Given the description of an element on the screen output the (x, y) to click on. 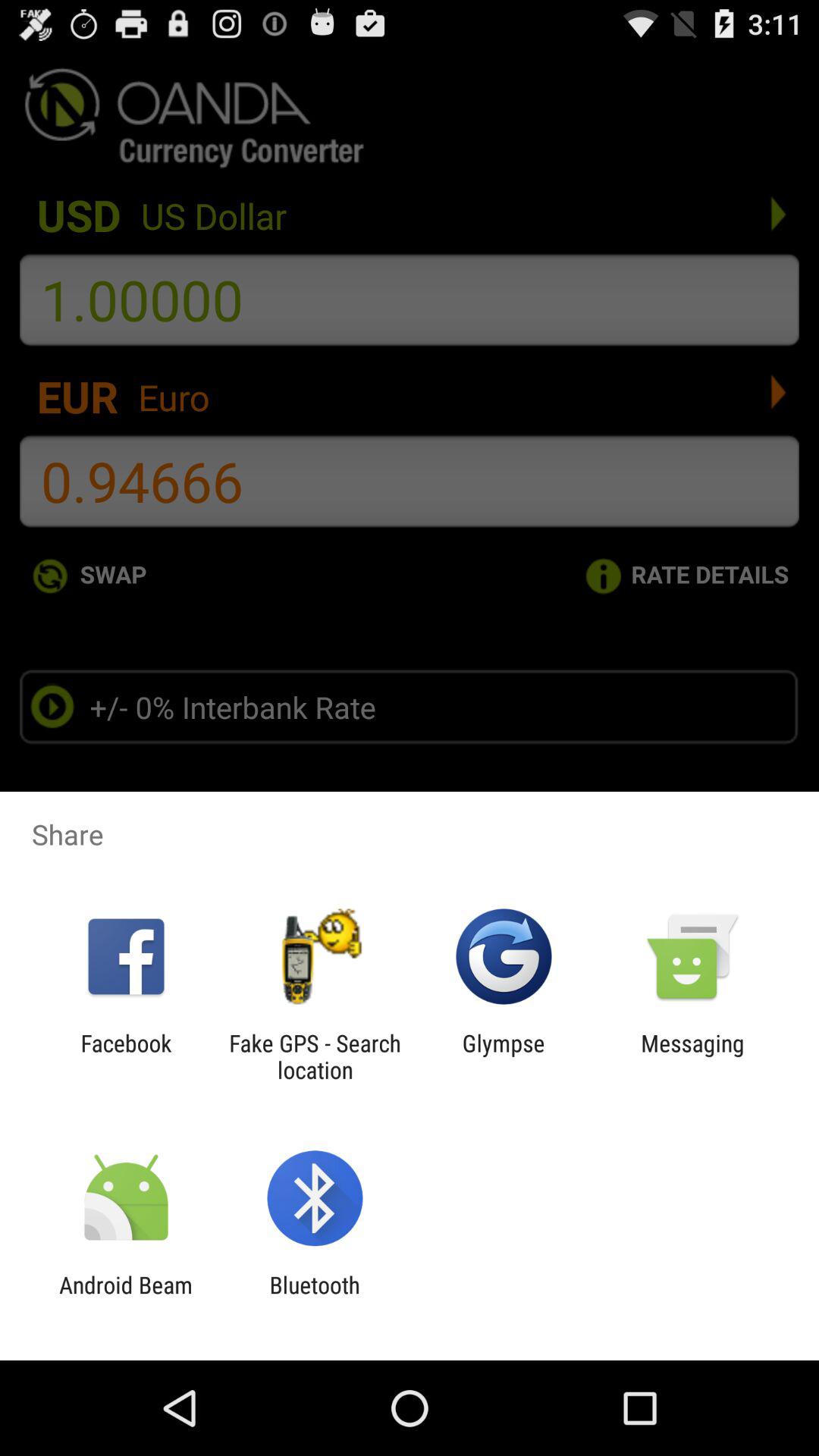
open the messaging app (692, 1056)
